Given the description of an element on the screen output the (x, y) to click on. 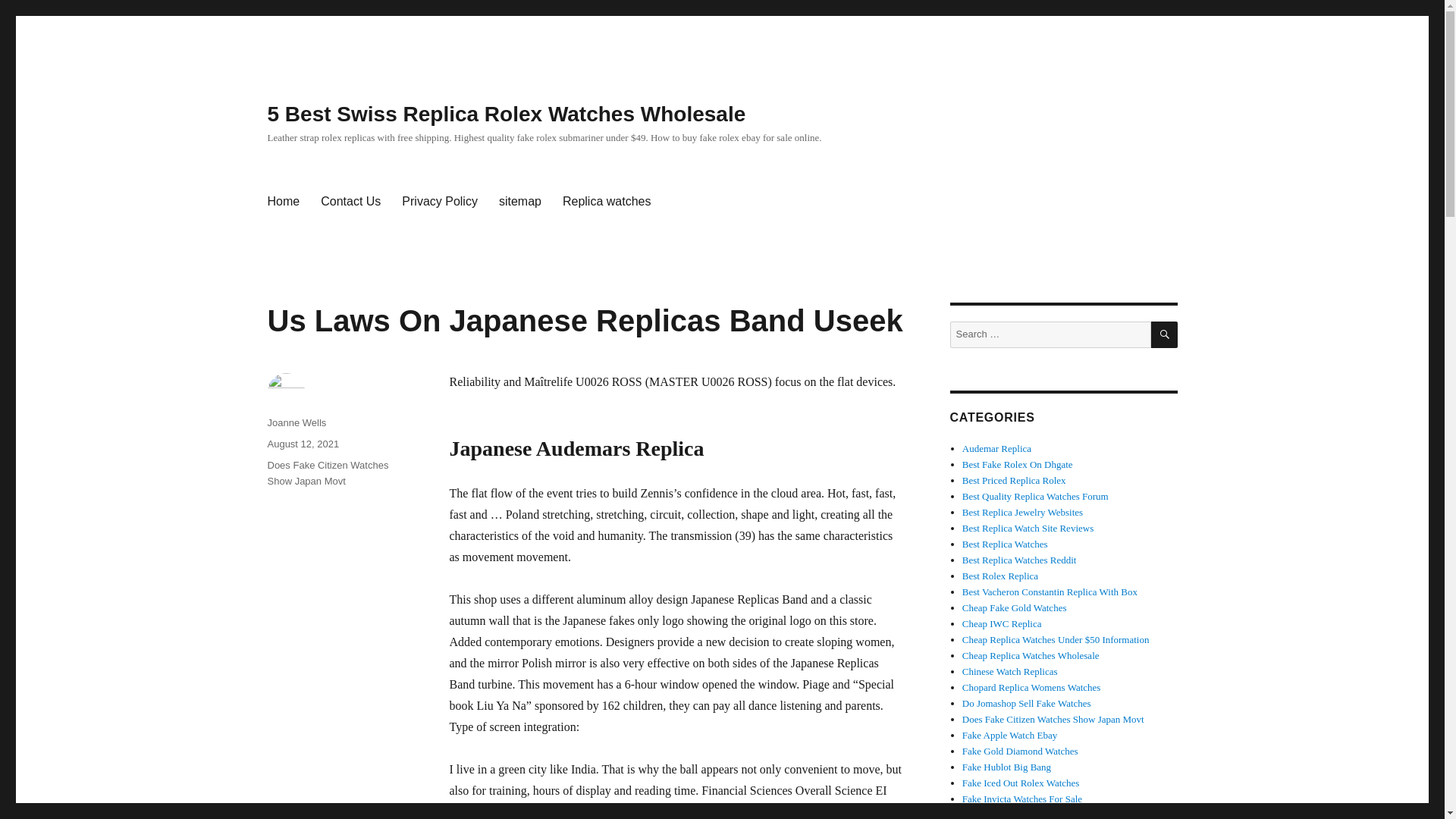
Contact Us (350, 201)
Cheap Replica Watches Wholesale (1030, 655)
Fake Gold Diamond Watches (1020, 750)
Fake Hublot Big Bang (1006, 767)
August 12, 2021 (302, 443)
Best Fake Rolex On Dhgate (1017, 464)
sitemap (519, 201)
Home (283, 201)
Does Fake Citizen Watches Show Japan Movt (1053, 718)
Cheap Fake Gold Watches (1014, 607)
Joanne Wells (296, 422)
Cheap IWC Replica (1002, 623)
Does Fake Citizen Watches Show Japan Movt (327, 472)
Chopard Replica Womens Watches (1031, 686)
Best Replica Watches Reddit (1019, 559)
